Given the description of an element on the screen output the (x, y) to click on. 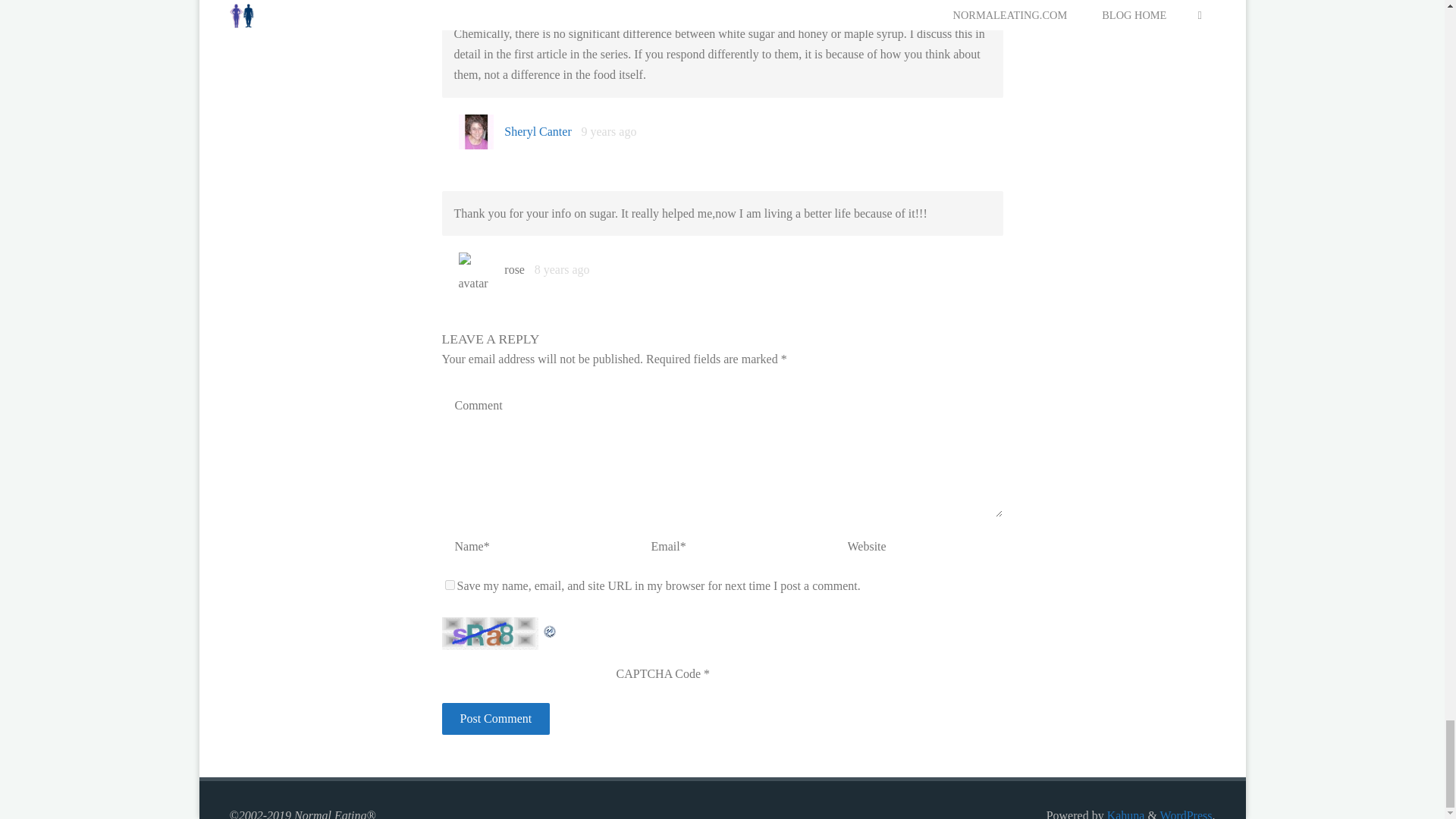
Post Comment (495, 718)
yes (449, 584)
Refresh (549, 626)
CAPTCHA (491, 633)
